Given the description of an element on the screen output the (x, y) to click on. 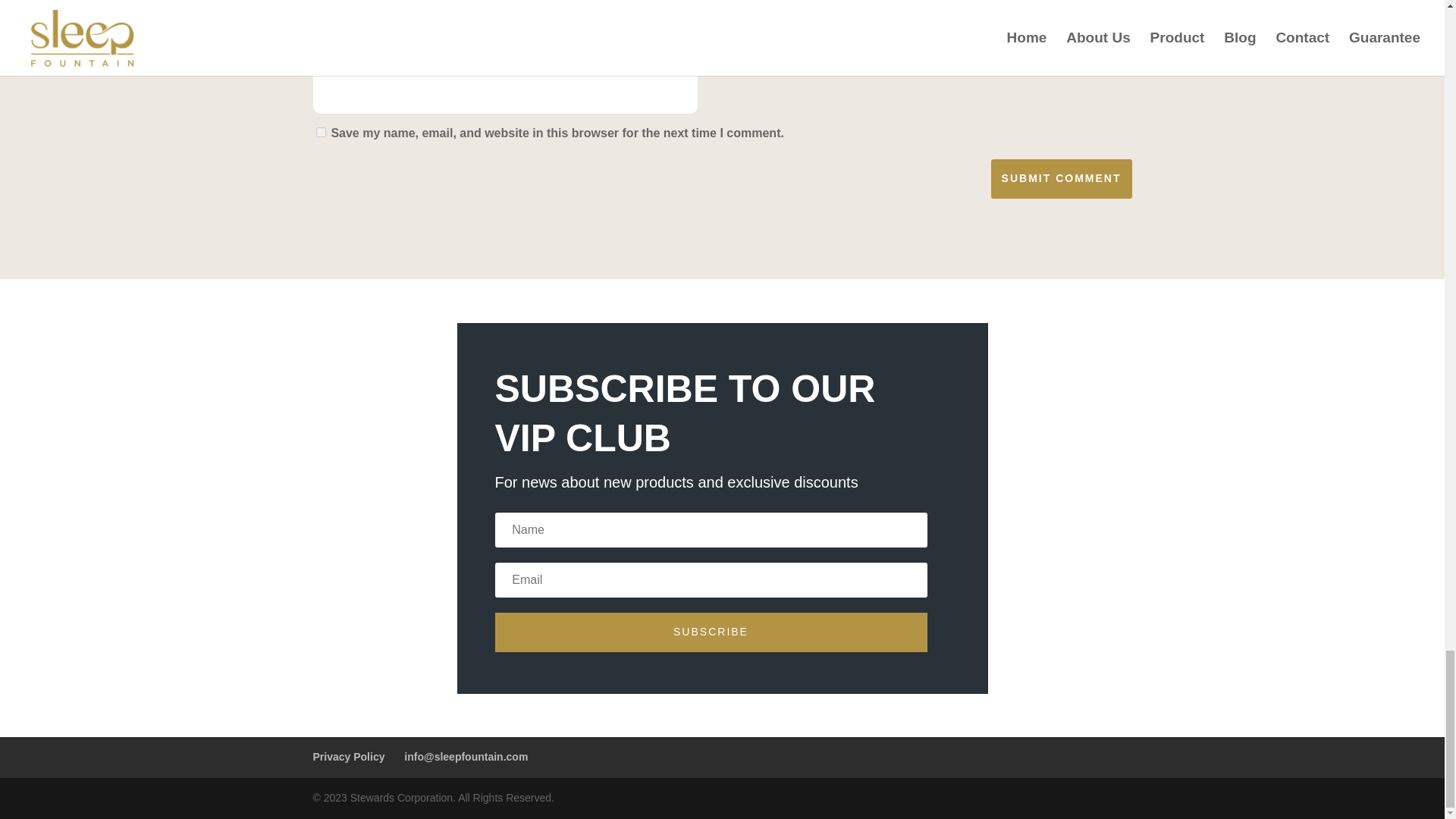
yes (319, 132)
Privacy Policy (348, 756)
SUBSCRIBE (710, 631)
SUBMIT COMMENT (1061, 178)
